Given the description of an element on the screen output the (x, y) to click on. 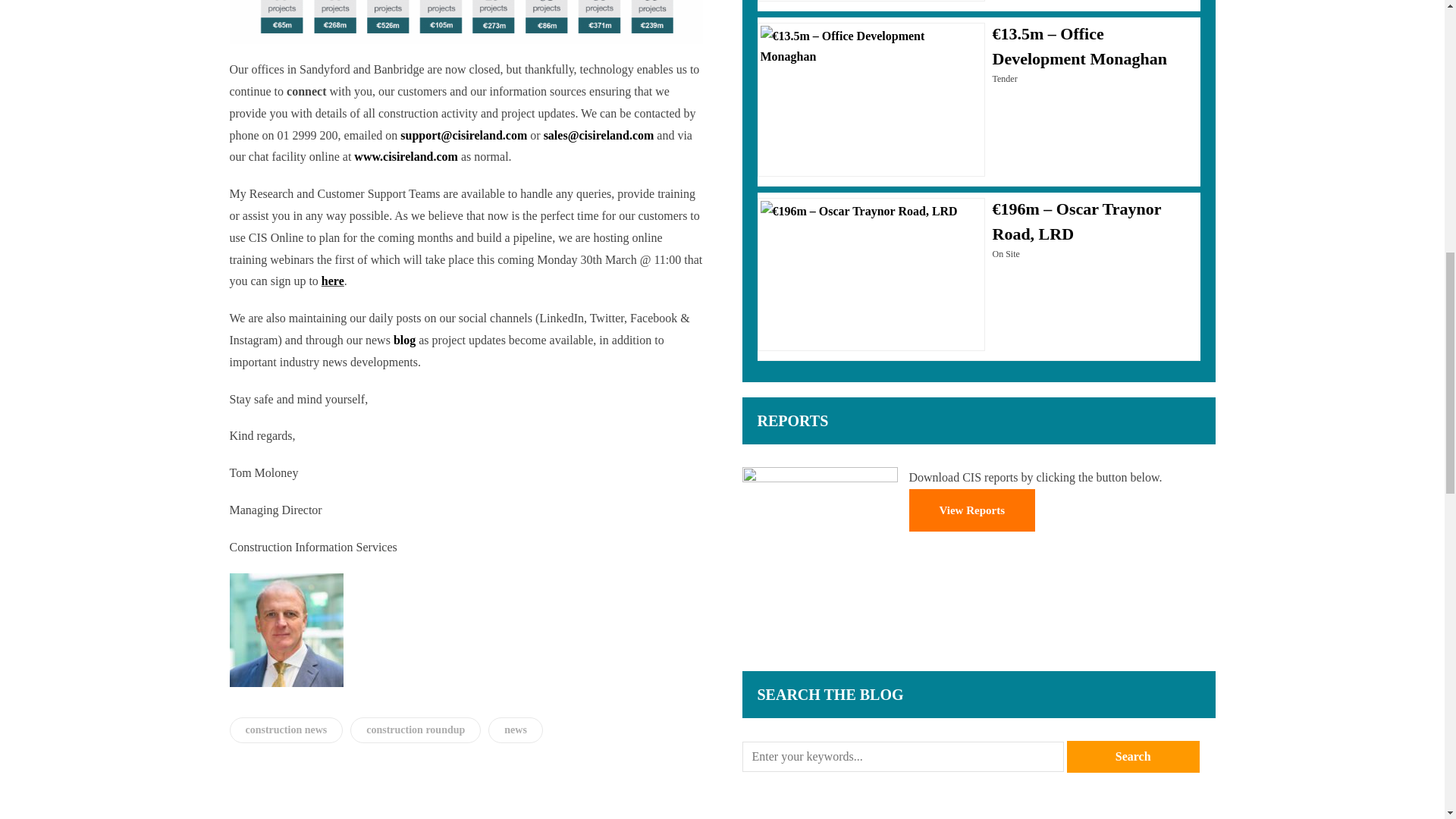
here (332, 280)
blog (406, 339)
construction news (285, 729)
www.cisireland.com (405, 155)
here (332, 280)
news (515, 729)
Search (1133, 757)
blog  (406, 339)
Search (1133, 757)
construction roundup (415, 729)
www.cisireland.com (405, 155)
